Given the description of an element on the screen output the (x, y) to click on. 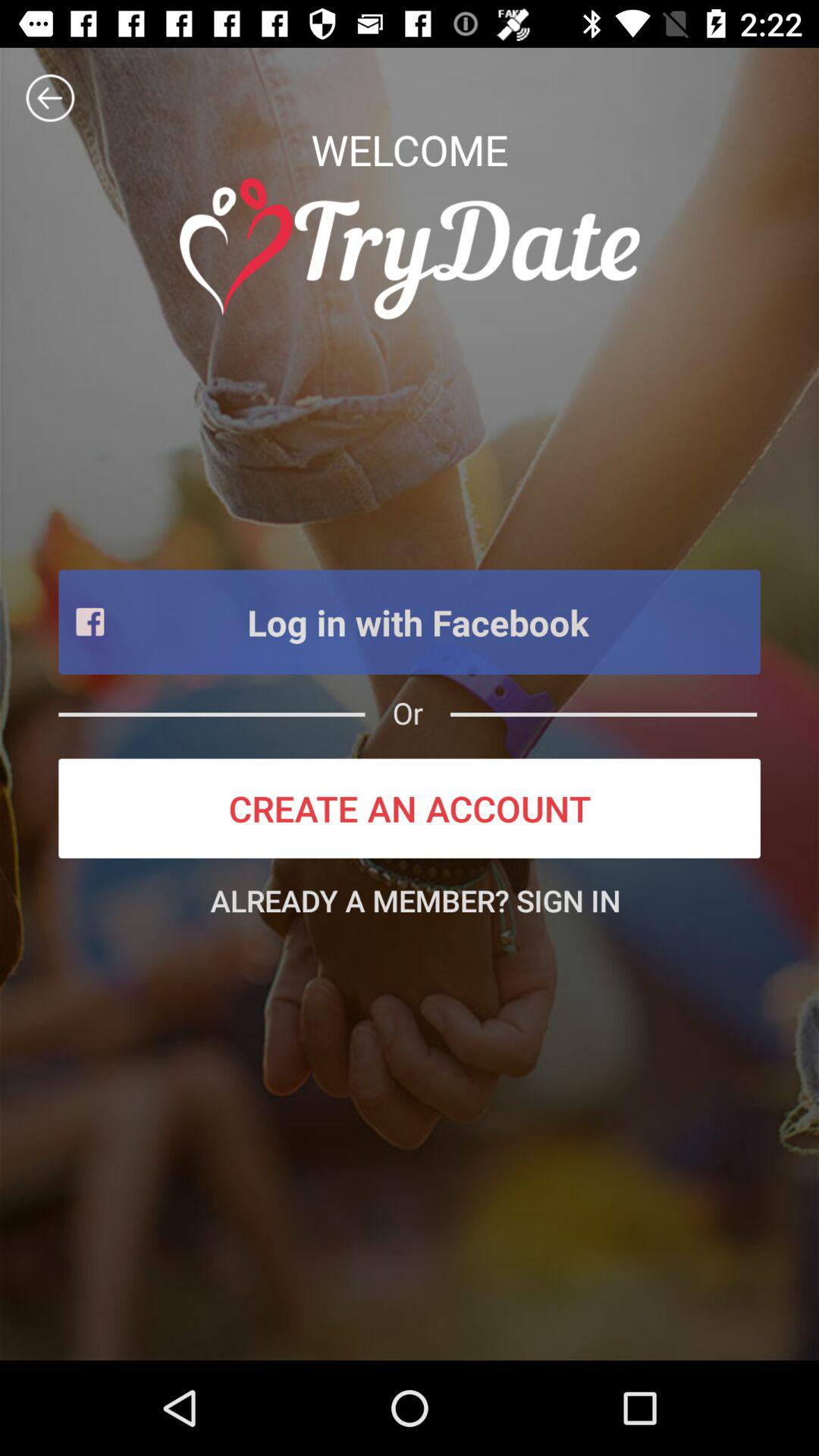
click arrow button (50, 97)
